Given the description of an element on the screen output the (x, y) to click on. 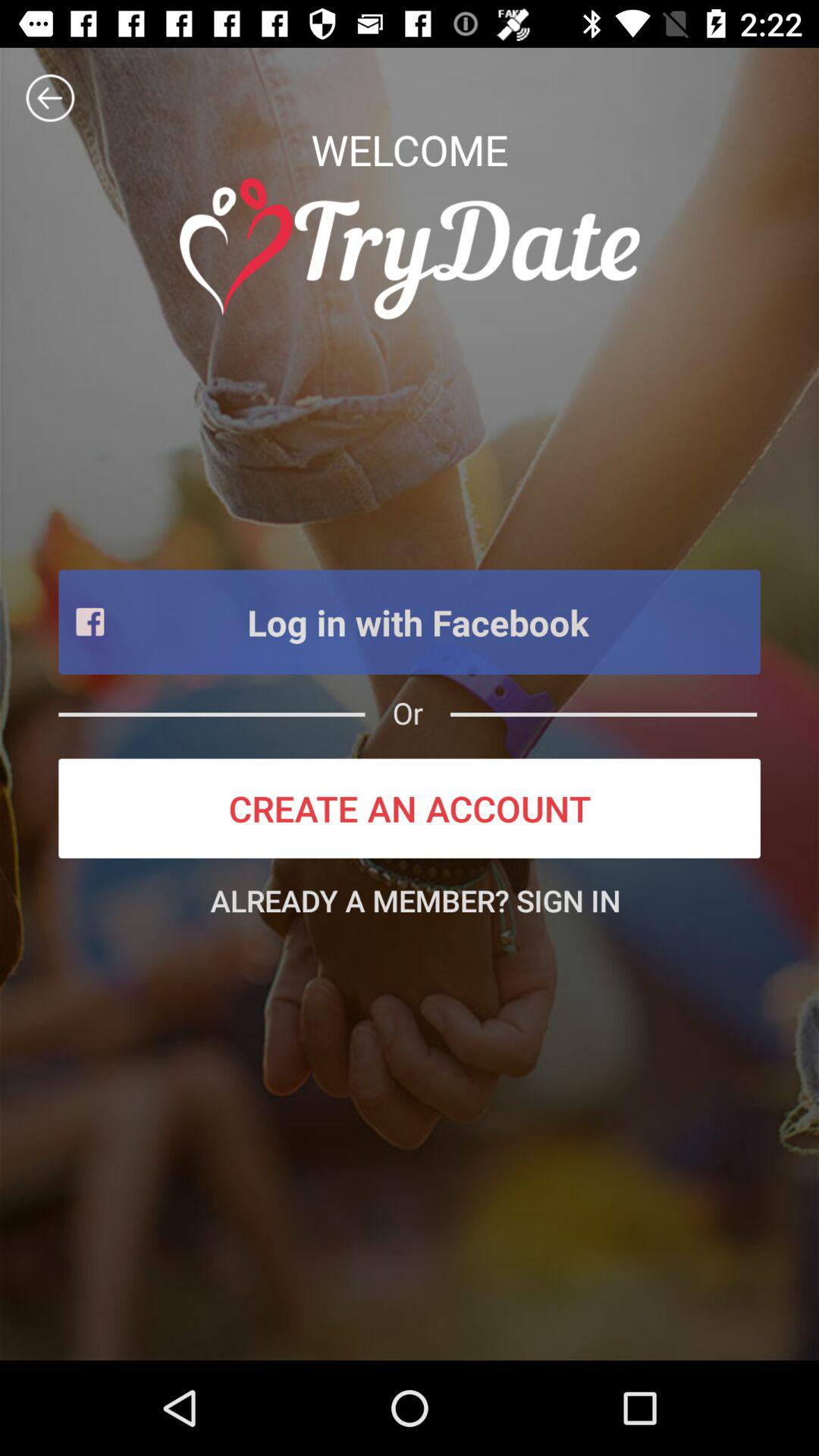
click arrow button (50, 97)
